Given the description of an element on the screen output the (x, y) to click on. 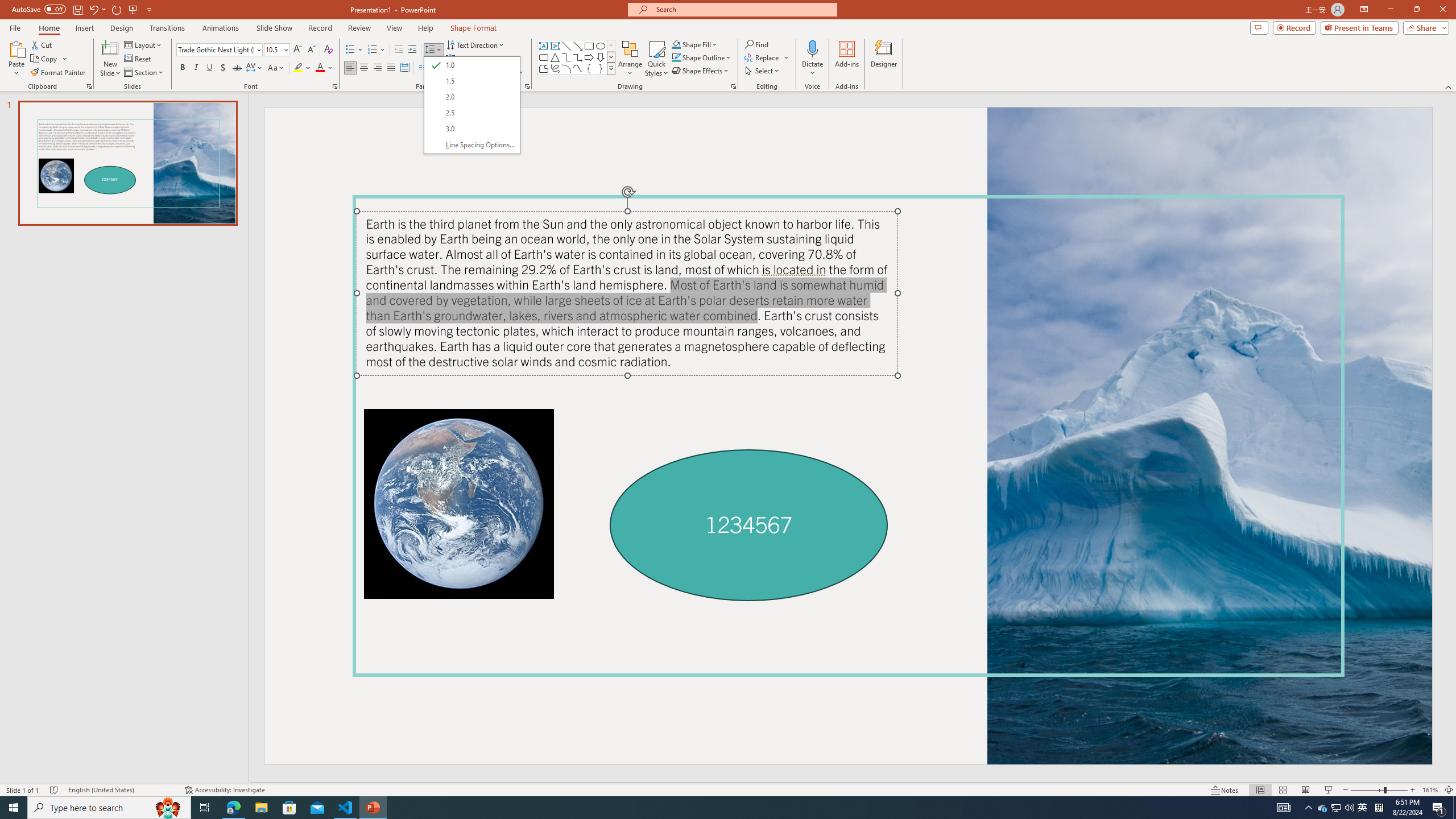
Shape Fill Aqua, Accent 2 (675, 44)
